Given the description of an element on the screen output the (x, y) to click on. 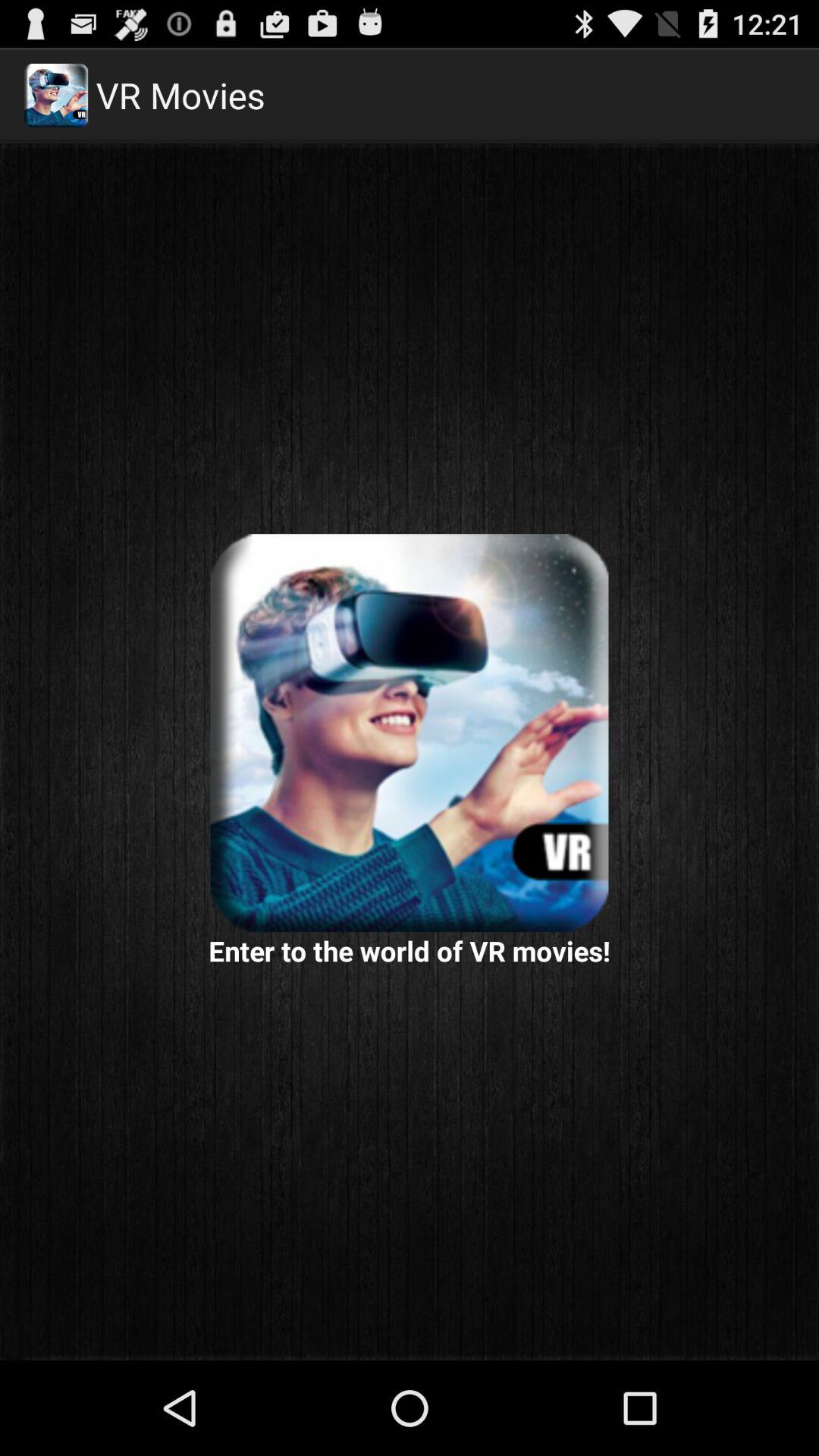
select app above the enter to the item (409, 733)
